Given the description of an element on the screen output the (x, y) to click on. 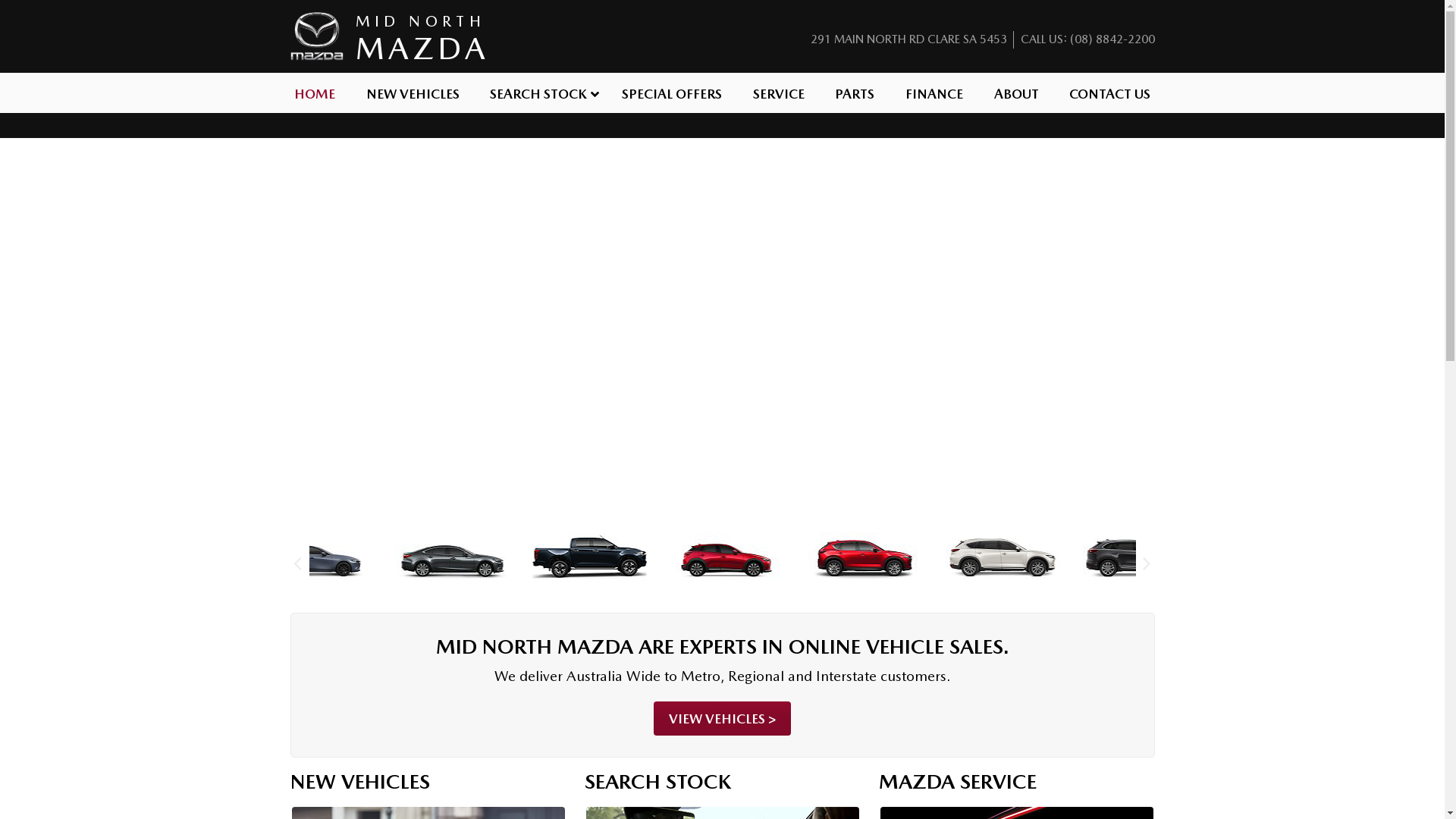
PARTS Element type: text (854, 92)
HOME Element type: text (315, 92)
ABOUT Element type: text (1016, 92)
NEW VEHICLES Element type: text (412, 92)
FINANCE Element type: text (934, 92)
VIEW VEHICLES > Element type: text (721, 718)
SERVICE Element type: text (778, 92)
CONTACT US Element type: text (1110, 92)
SEARCH STOCK Element type: text (540, 92)
(08) 8842-2200 Element type: text (1111, 38)
SPECIAL OFFERS Element type: text (671, 92)
